Given the description of an element on the screen output the (x, y) to click on. 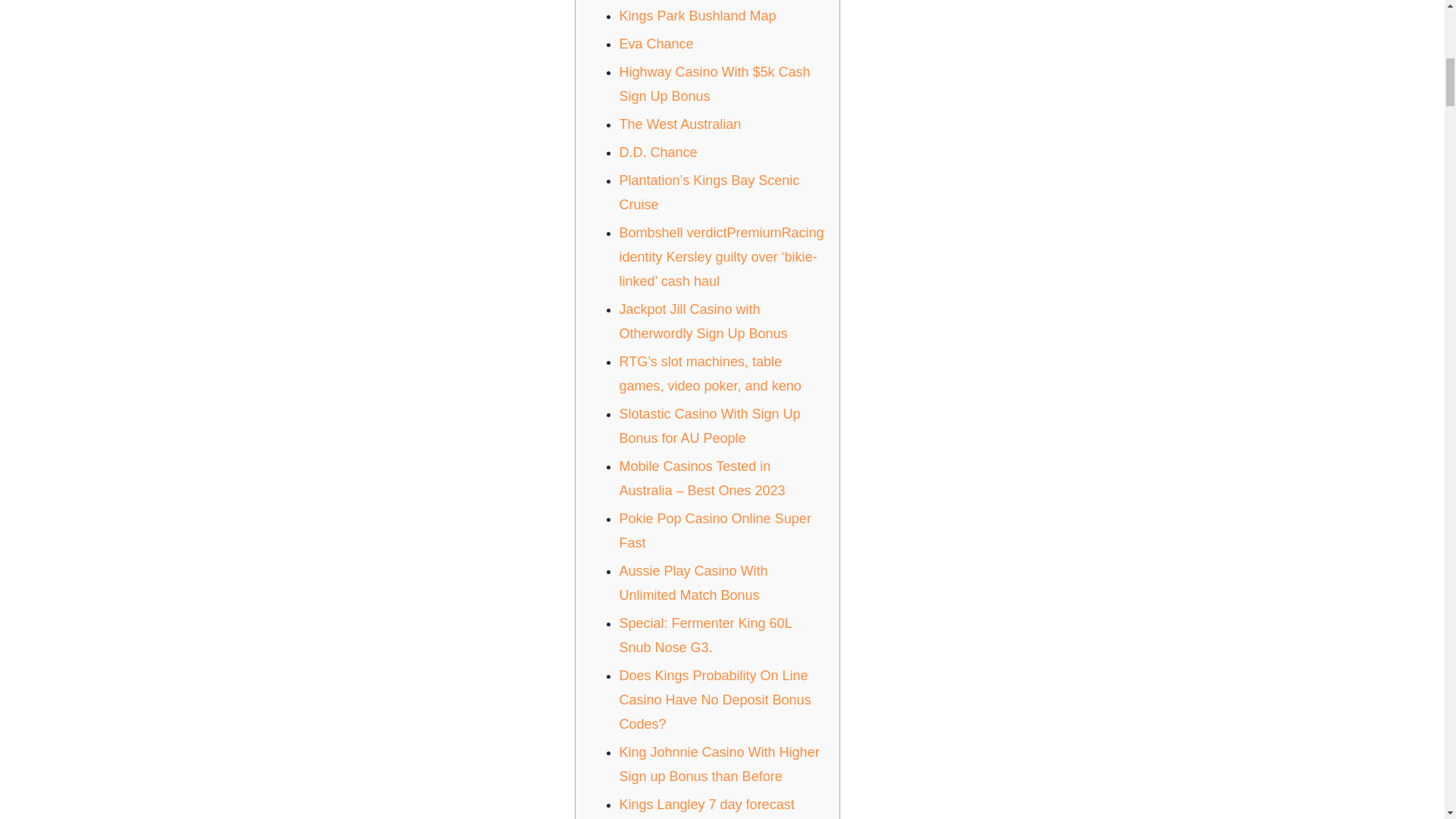
Special: Fermenter King 60L Snub Nose G3. (704, 635)
Slotastic Casino With Sign Up Bonus for AU People (708, 425)
King Johnnie Casino With Higher Sign up Bonus than Before (718, 763)
Eva Chance (655, 43)
D.D. Chance (657, 151)
The West Australian (679, 124)
Aussie Play Casino With Unlimited Match Bonus (692, 582)
Jackpot Jill Casino with Otherwordly Sign Up Bonus (702, 321)
Kings Langley 7 day forecast (705, 804)
Pokie Pop Casino Online Super Fast (714, 530)
Kings Park Bushland Map (697, 15)
